Given the description of an element on the screen output the (x, y) to click on. 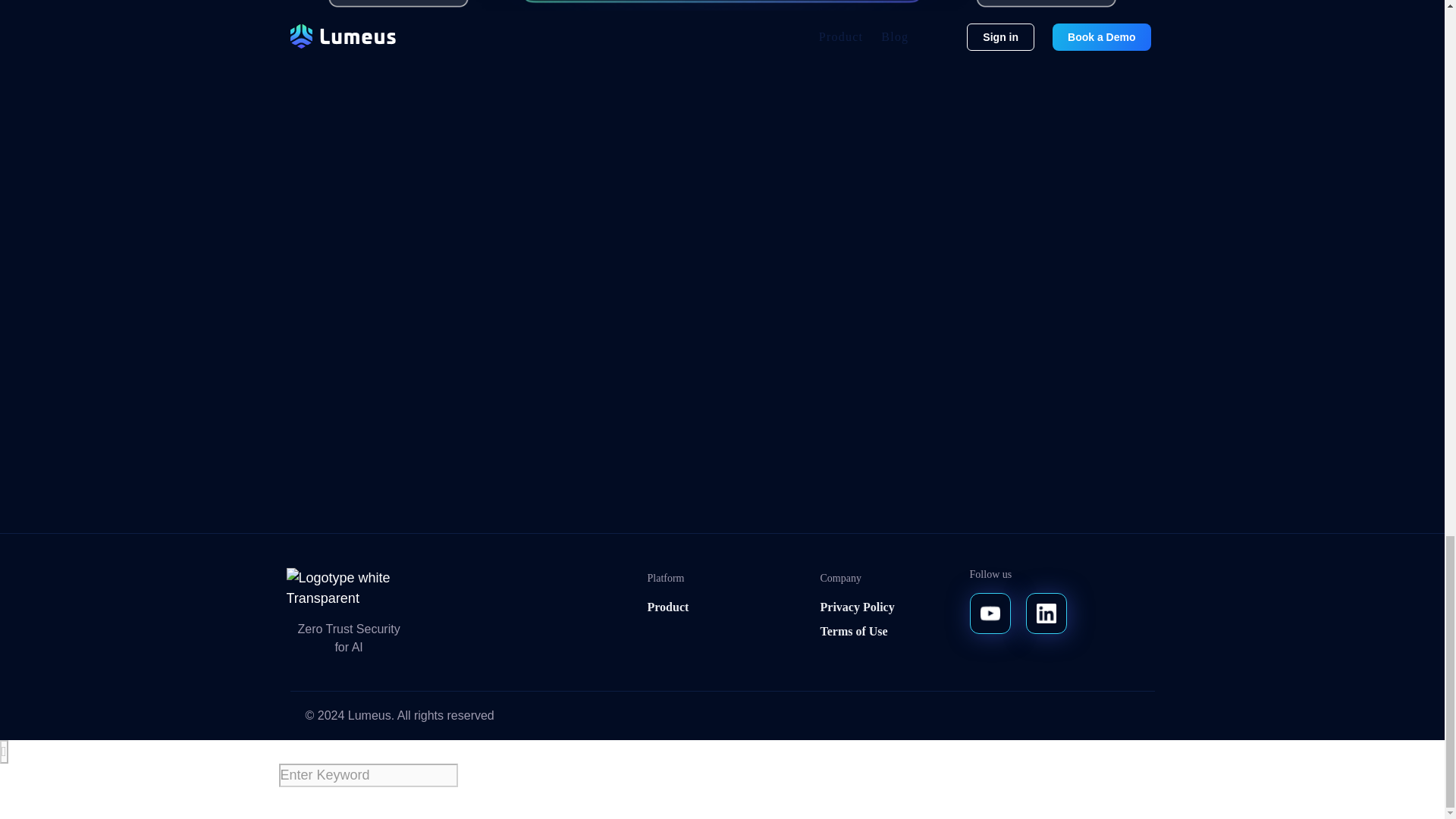
Product (667, 606)
Terms of Use (854, 631)
Privacy Policy (858, 606)
Logotype white Transparent (354, 588)
